Given the description of an element on the screen output the (x, y) to click on. 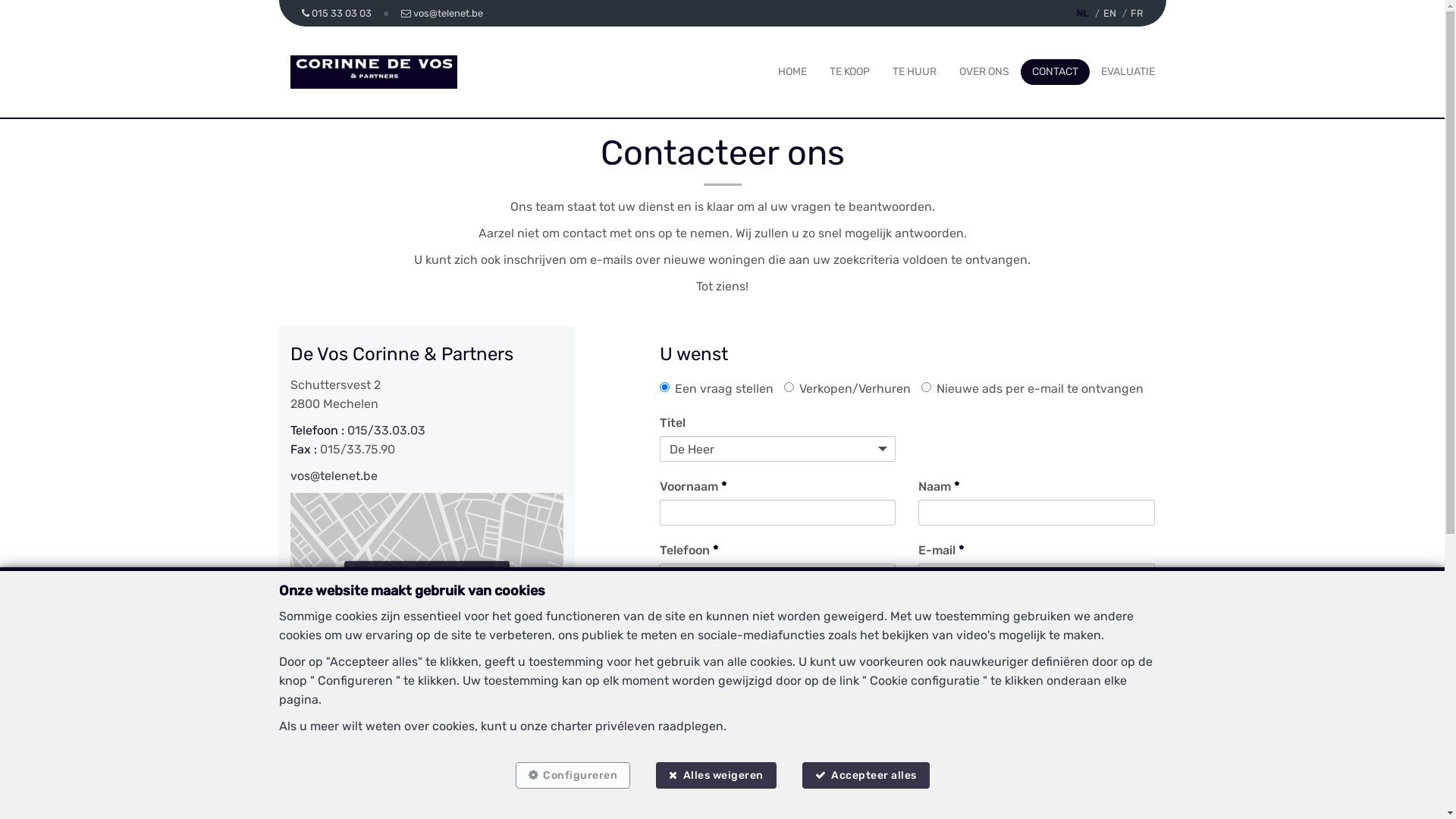
Configureren Element type: text (572, 775)
FR Element type: text (1135, 12)
EN Element type: text (1108, 12)
NL Element type: text (1081, 12)
Alles weigeren Element type: text (715, 775)
TE KOOP Element type: text (849, 71)
vos@telenet.be Element type: text (332, 475)
015/33.03.03 Element type: text (386, 430)
Zoek op de kaart Element type: text (426, 575)
CONTACT Element type: text (1054, 71)
vos@telenet.be Element type: text (441, 13)
Accepteer alles Element type: text (865, 775)
TE HUUR Element type: text (913, 71)
OVER ONS Element type: text (983, 71)
015 33 03 03 Element type: text (337, 13)
EVALUATIE Element type: text (1127, 71)
HOME Element type: text (792, 71)
